Given the description of an element on the screen output the (x, y) to click on. 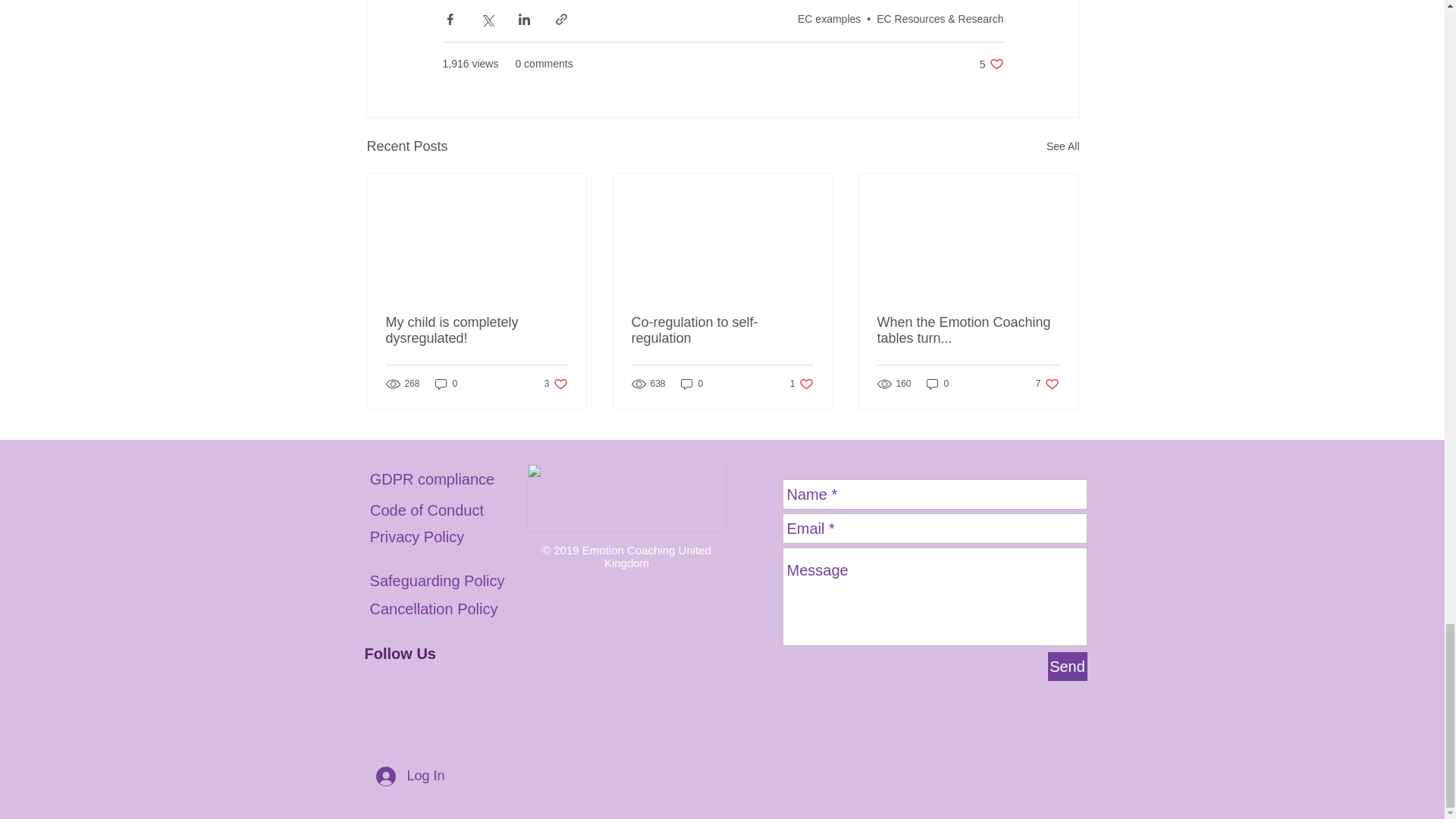
My child is completely dysregulated! (991, 63)
0 (476, 330)
EC examples (555, 383)
See All (446, 383)
